Given the description of an element on the screen output the (x, y) to click on. 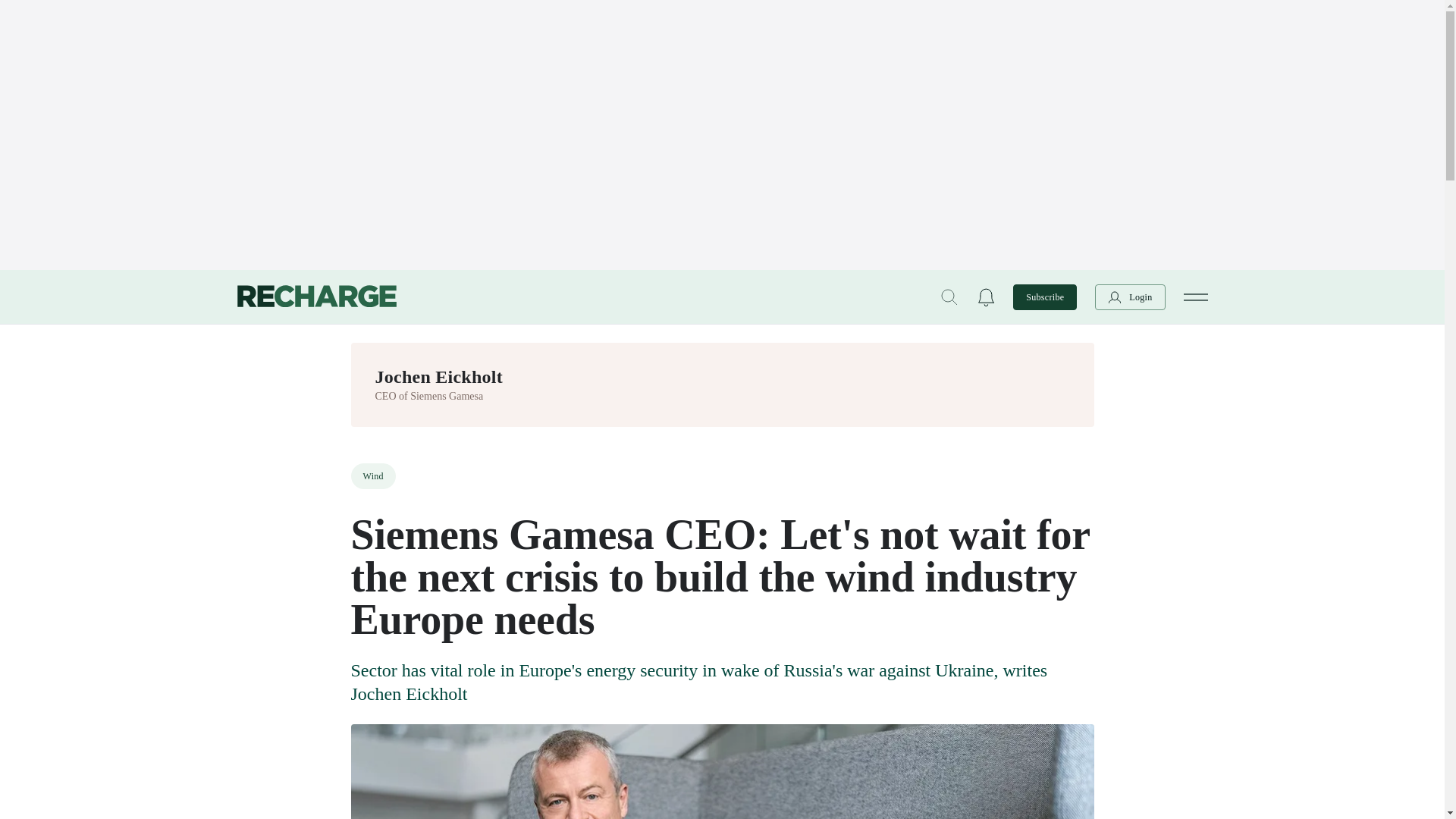
Subscribe (1045, 296)
Subscribe (1045, 296)
Login (1129, 296)
Wind (372, 475)
Login (1129, 296)
Wind (372, 475)
